Given the description of an element on the screen output the (x, y) to click on. 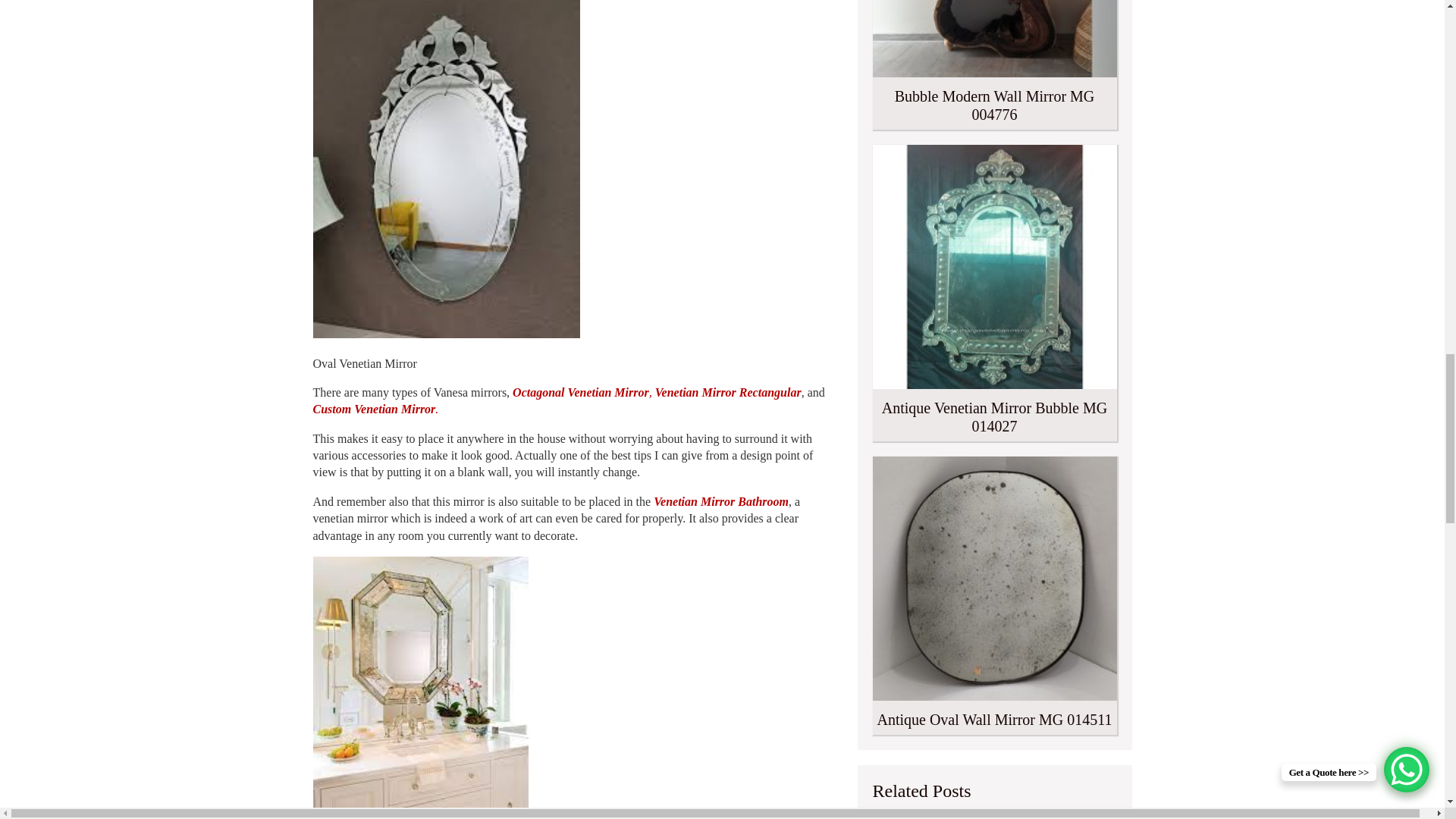
Venetian Mirror Rectangular (728, 391)
Bubble Modern Wall Mirror MG 004776 (994, 64)
Custom Venetian Mirror. (375, 408)
Octagonal Venetian Mirror, (582, 391)
Venetian Mirror Bathroom (721, 501)
